Given the description of an element on the screen output the (x, y) to click on. 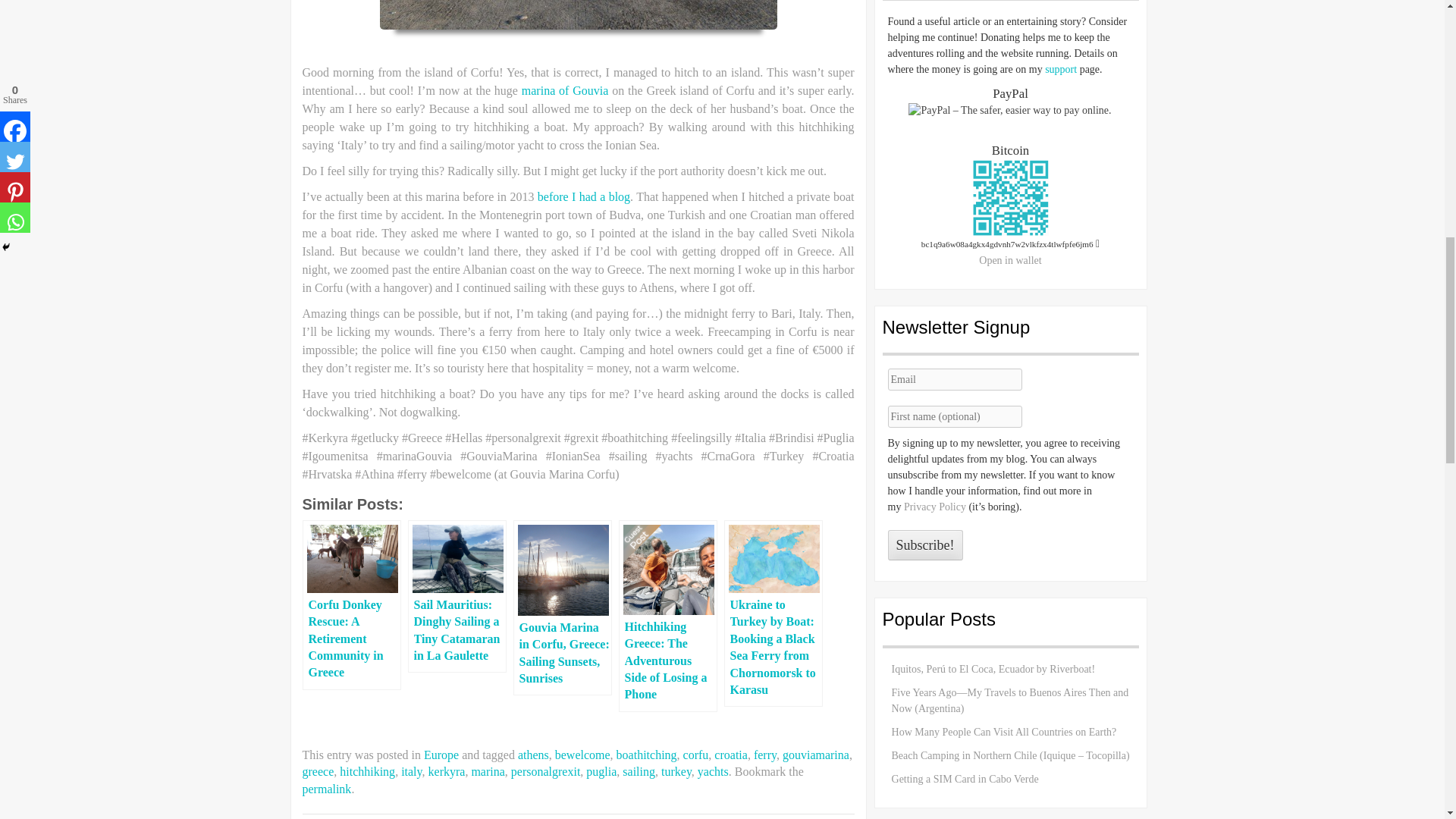
Subscribe! (925, 544)
